Given the description of an element on the screen output the (x, y) to click on. 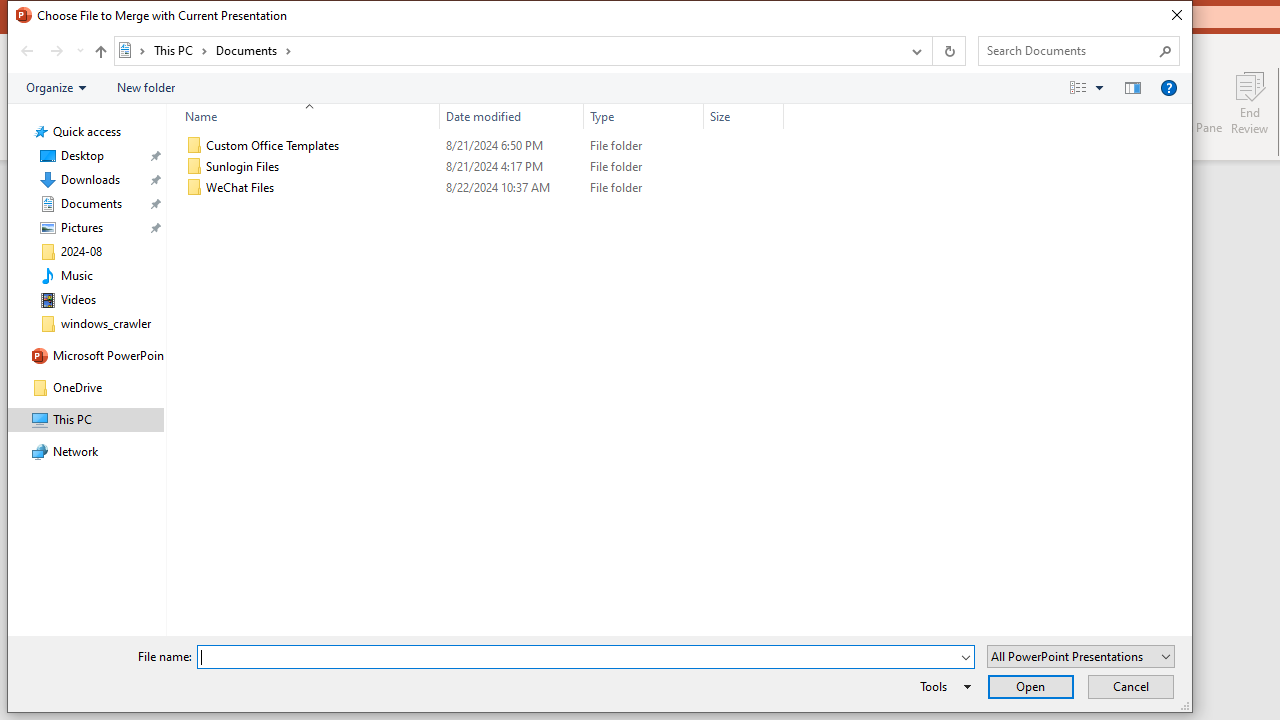
Open (1030, 686)
Type (643, 187)
Views (1090, 87)
Size (743, 115)
Tools (942, 686)
Recent locations (79, 51)
View Slider (1099, 87)
Search (1165, 50)
System (18, 18)
Name (303, 115)
Navigation buttons (50, 51)
Date modified (511, 115)
Search Box (1069, 50)
Date modified (511, 187)
Sunlogin Files (480, 166)
